Given the description of an element on the screen output the (x, y) to click on. 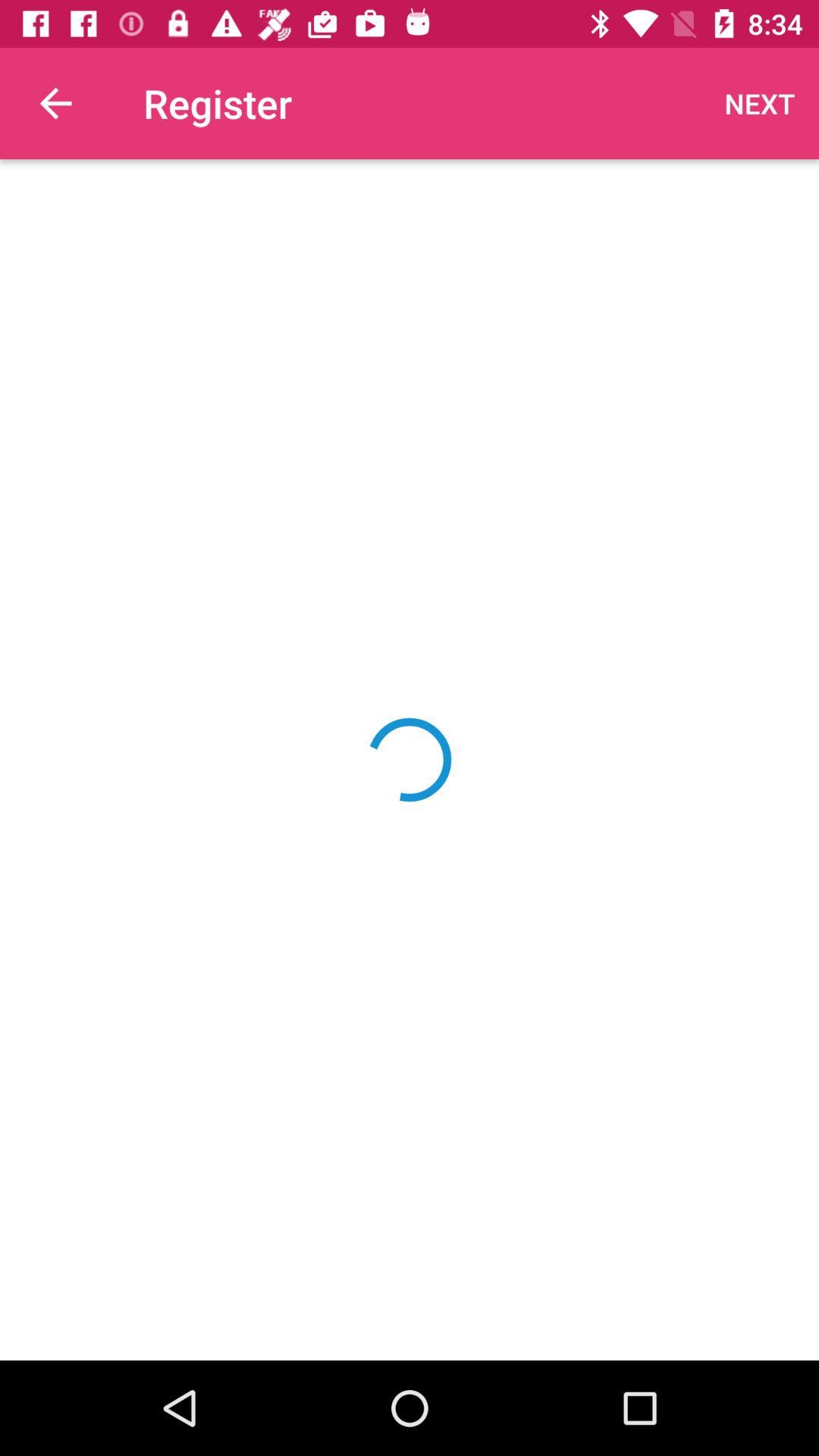
turn on item to the left of the register icon (55, 103)
